Given the description of an element on the screen output the (x, y) to click on. 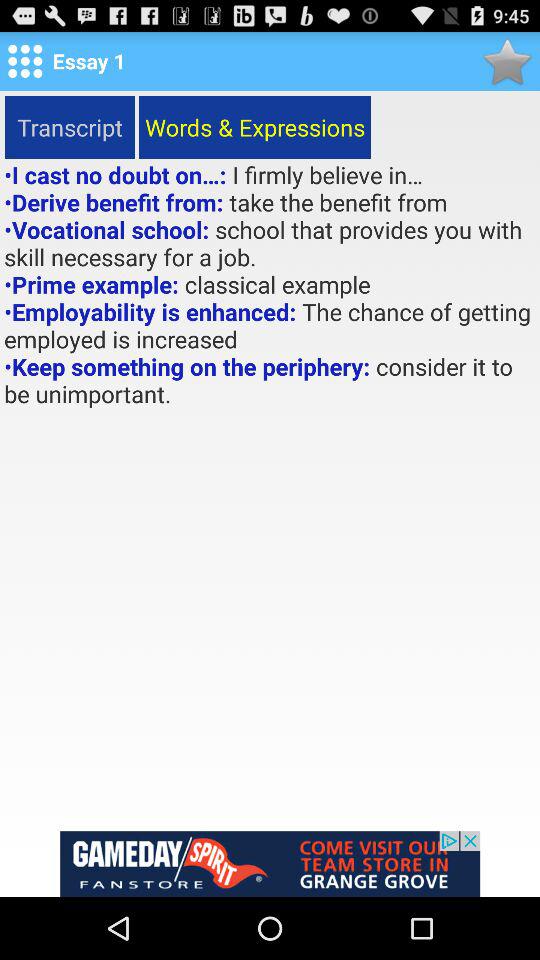
adding favorite star icon (506, 60)
